Given the description of an element on the screen output the (x, y) to click on. 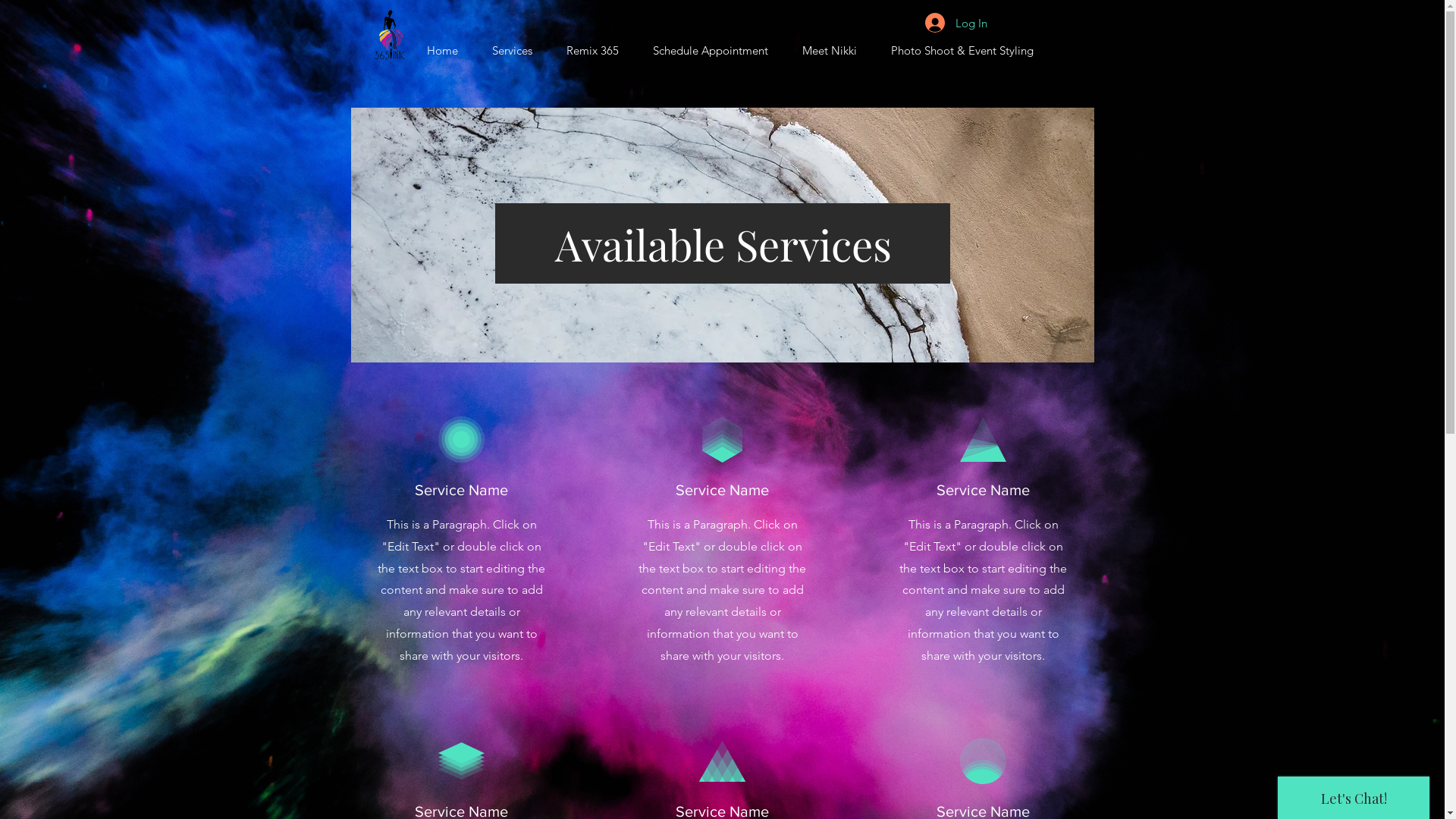
Remix 365 Element type: text (592, 43)
Services Element type: text (511, 43)
Log In Element type: text (955, 22)
Home Element type: text (441, 43)
Photo Shoot & Event Styling Element type: text (961, 43)
Schedule Appointment Element type: text (709, 43)
Meet Nikki Element type: text (829, 43)
